Given the description of an element on the screen output the (x, y) to click on. 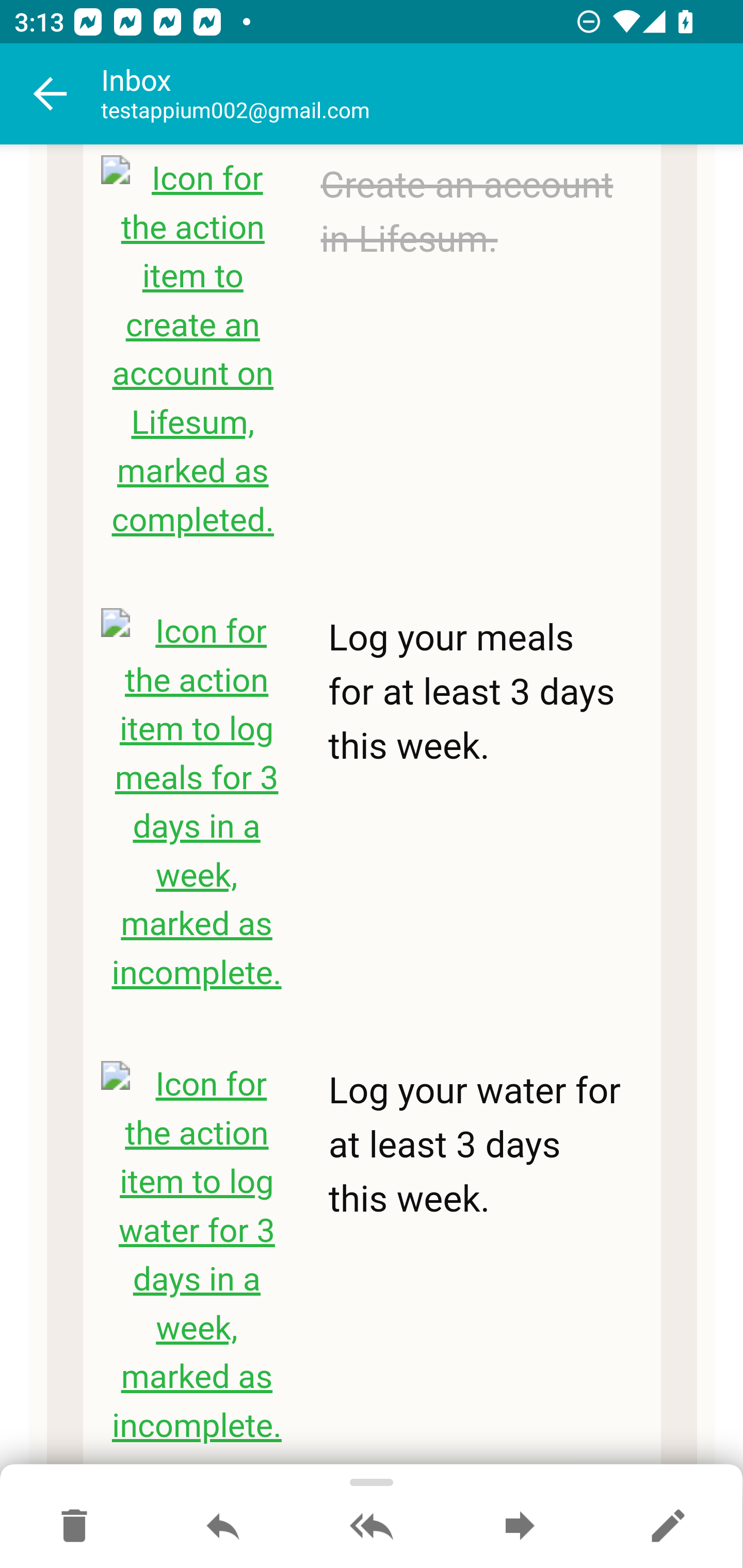
Navigate up (50, 93)
Inbox testappium002@gmail.com (422, 93)
Move to Deleted (74, 1527)
Reply (222, 1527)
Reply all (371, 1527)
Forward (519, 1527)
Reply as new (667, 1527)
